Given the description of an element on the screen output the (x, y) to click on. 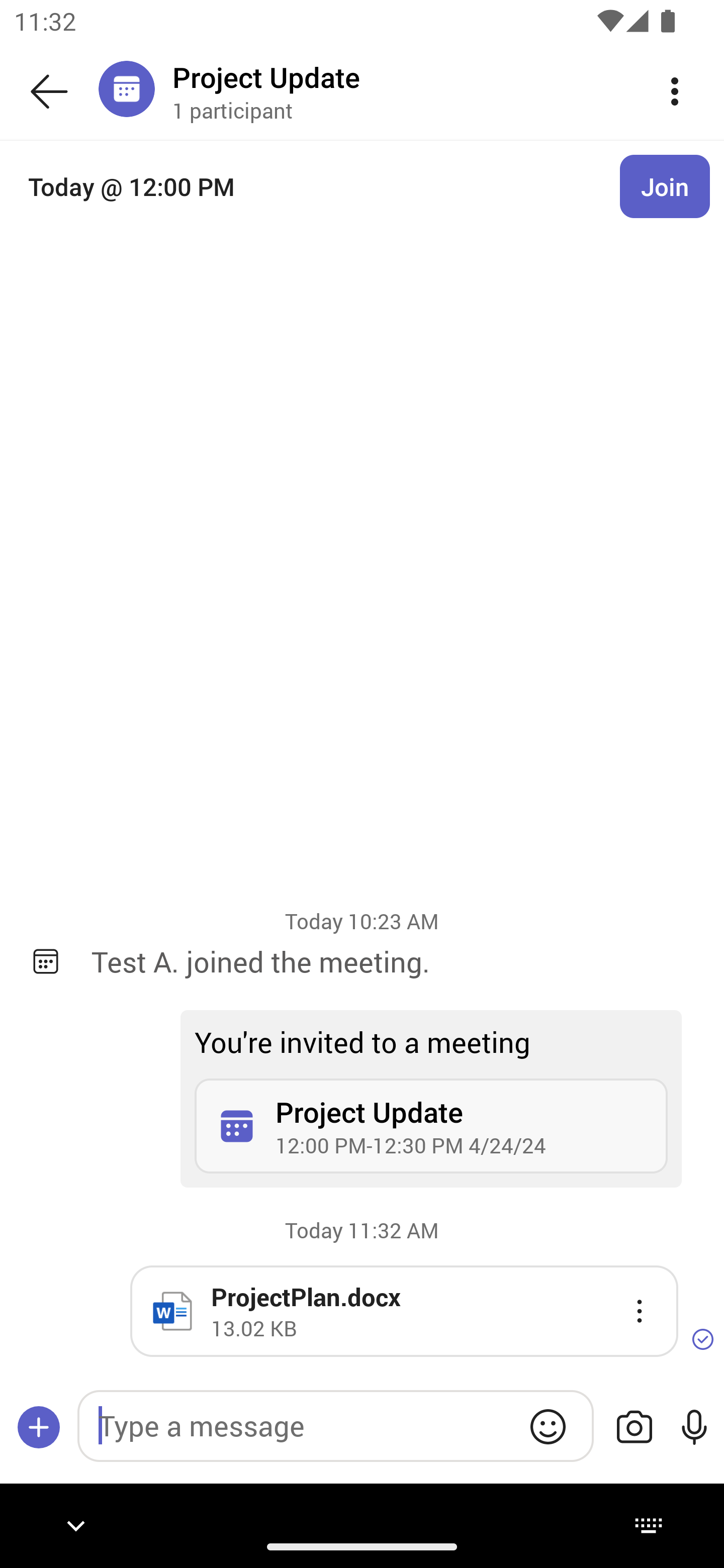
Back (49, 91)
More options (674, 90)
Project Update Project Update 1 participant (398, 90)
Join (664, 186)
Test A. joined the meeting. (393, 961)
File options (639, 1310)
Compose options, expanded (38, 1427)
Button for loading camera action functionality (633, 1427)
Type a message (335, 1425)
GIFs and emojis picker (548, 1425)
